Given the description of an element on the screen output the (x, y) to click on. 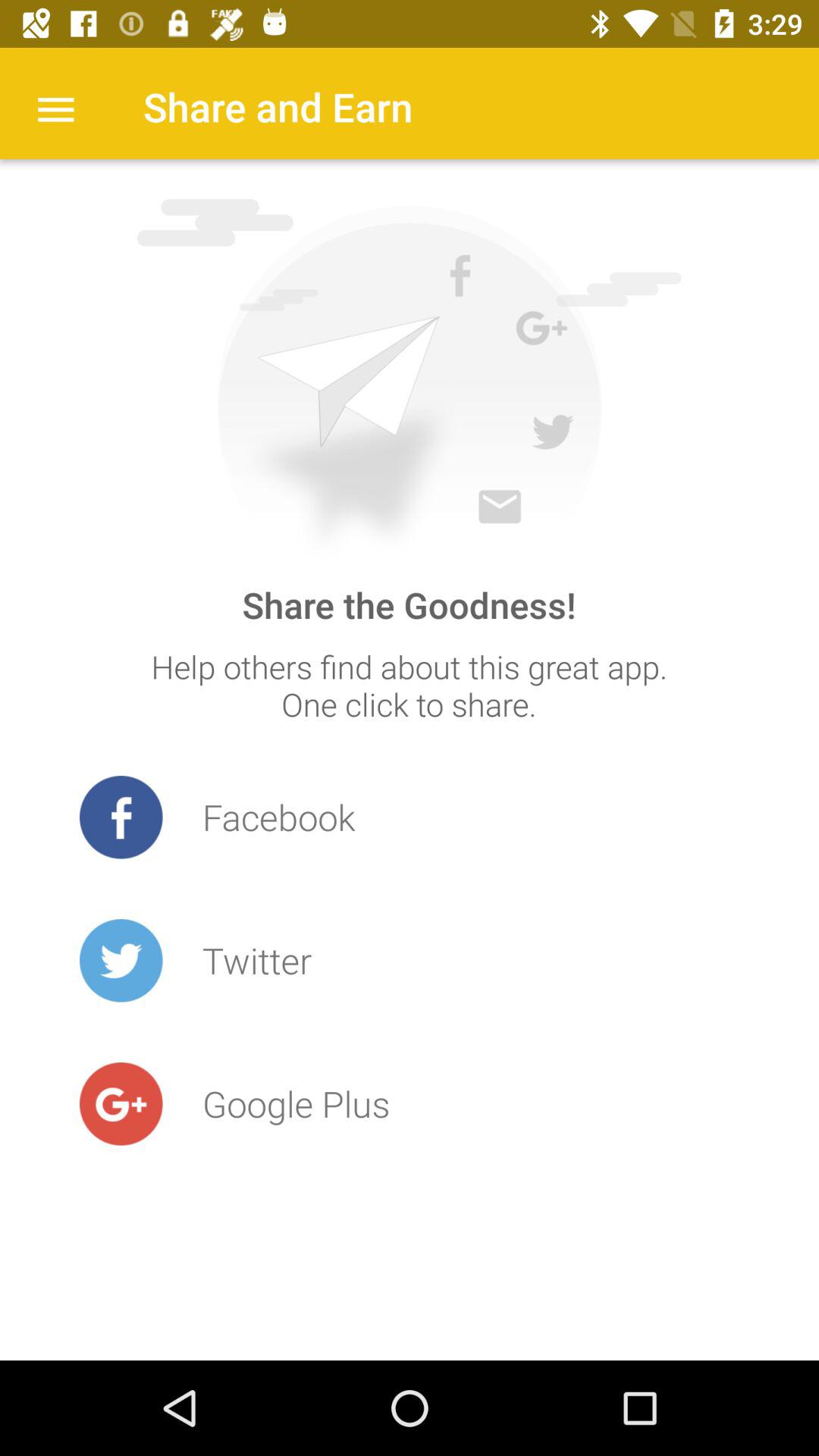
launch share and earn item (277, 106)
